Given the description of an element on the screen output the (x, y) to click on. 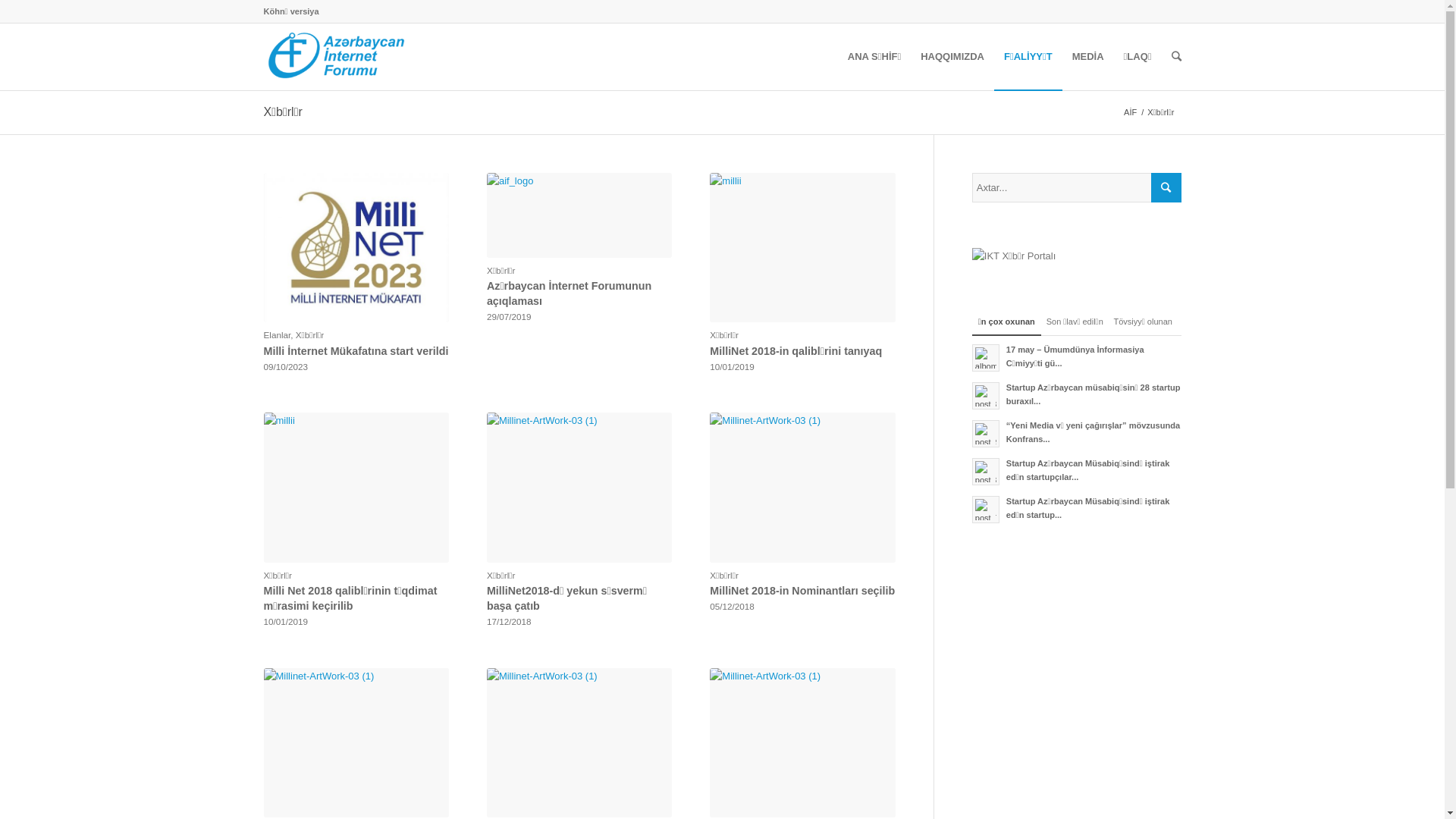
HAQQIMIZDA Element type: text (952, 56)
Elanlar Element type: text (277, 334)
